Given the description of an element on the screen output the (x, y) to click on. 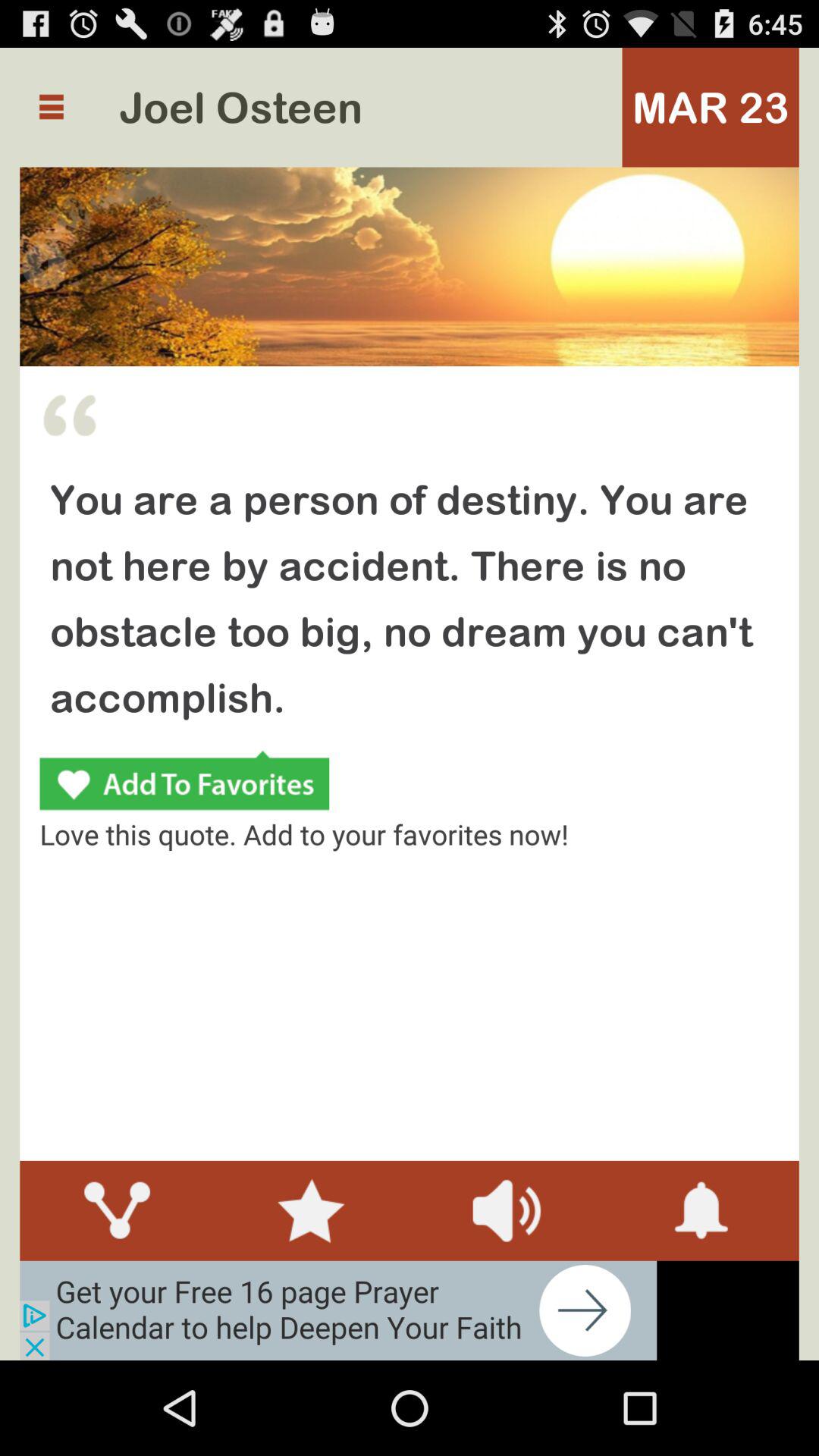
open complementary menu (51, 106)
